Given the description of an element on the screen output the (x, y) to click on. 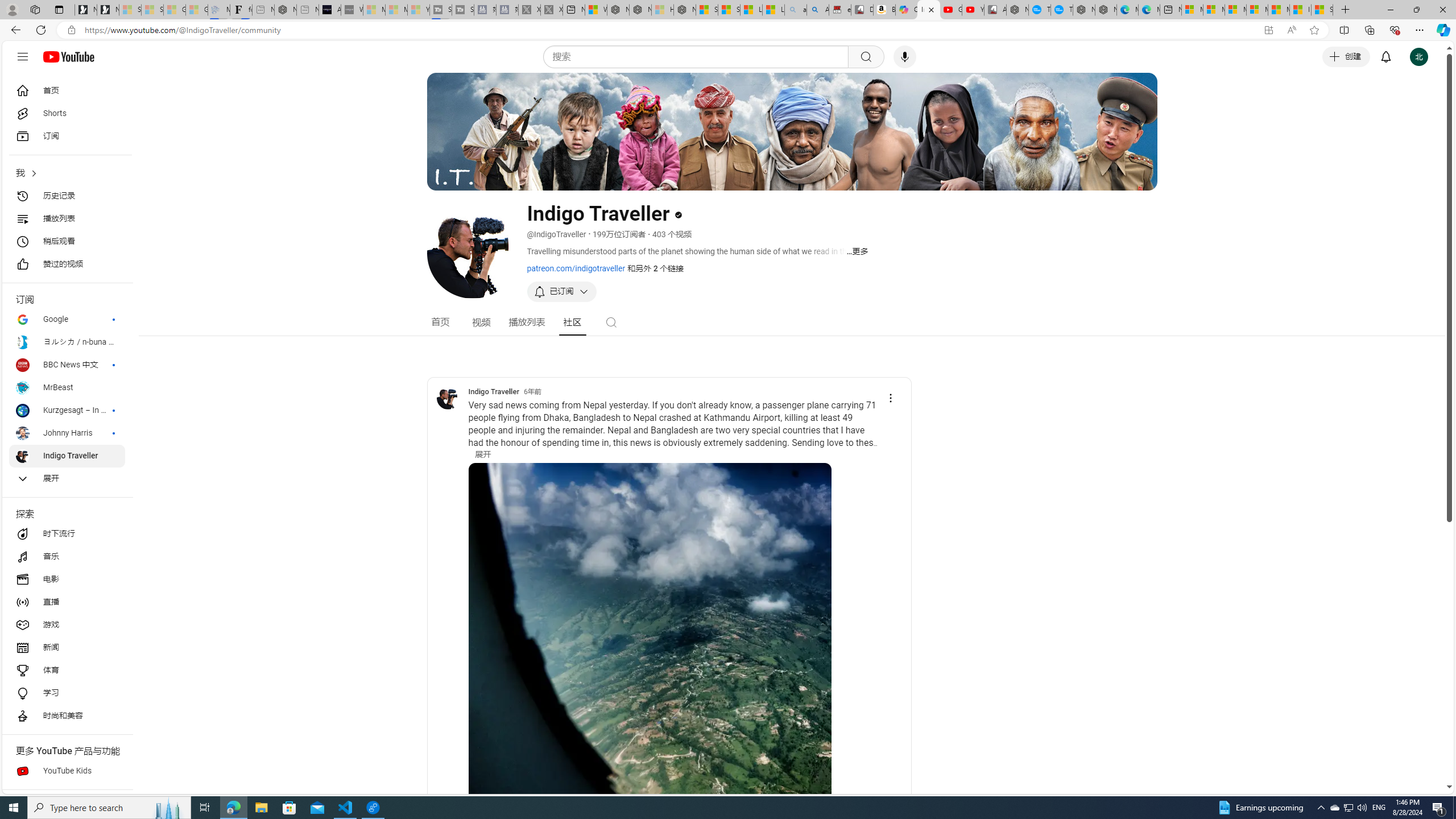
Copilot (907, 9)
